Given the description of an element on the screen output the (x, y) to click on. 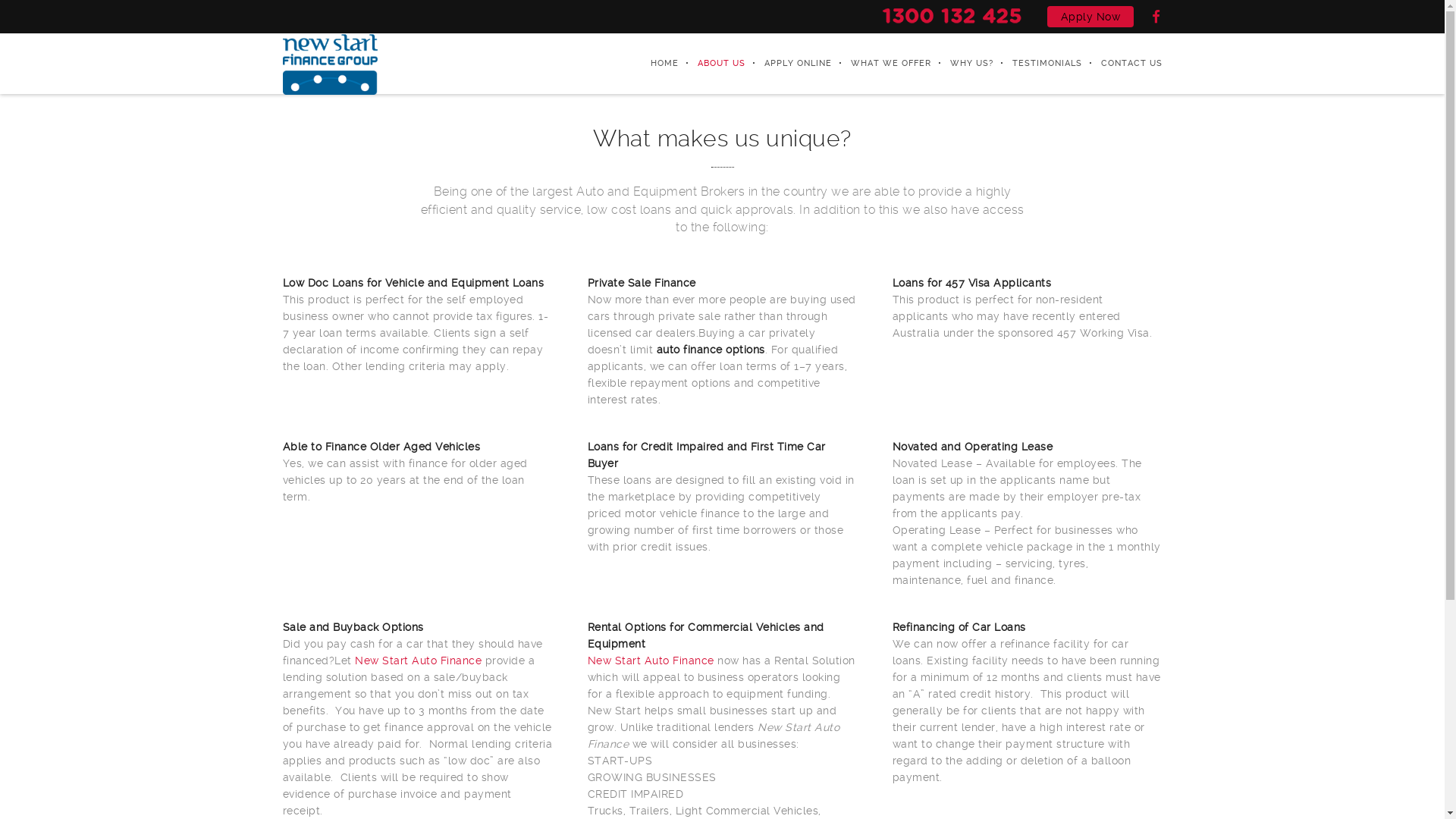
0892073400 Element type: text (952, 15)
Facebook Element type: hover (1156, 16)
New Start Auto Finance Element type: text (650, 660)
New Start Auto Finance Element type: text (417, 660)
CONTACT US Element type: text (1121, 63)
HOME Element type: text (653, 63)
APPLY ONLINE Element type: text (787, 63)
Apply Now Element type: text (1089, 16)
WHY US? Element type: text (962, 63)
New Start Auto Finance Element type: hover (329, 63)
WHAT WE OFFER Element type: text (880, 63)
ABOUT US Element type: text (710, 63)
TESTIMONIALS Element type: text (1037, 63)
auto finance options Element type: text (710, 349)
